Given the description of an element on the screen output the (x, y) to click on. 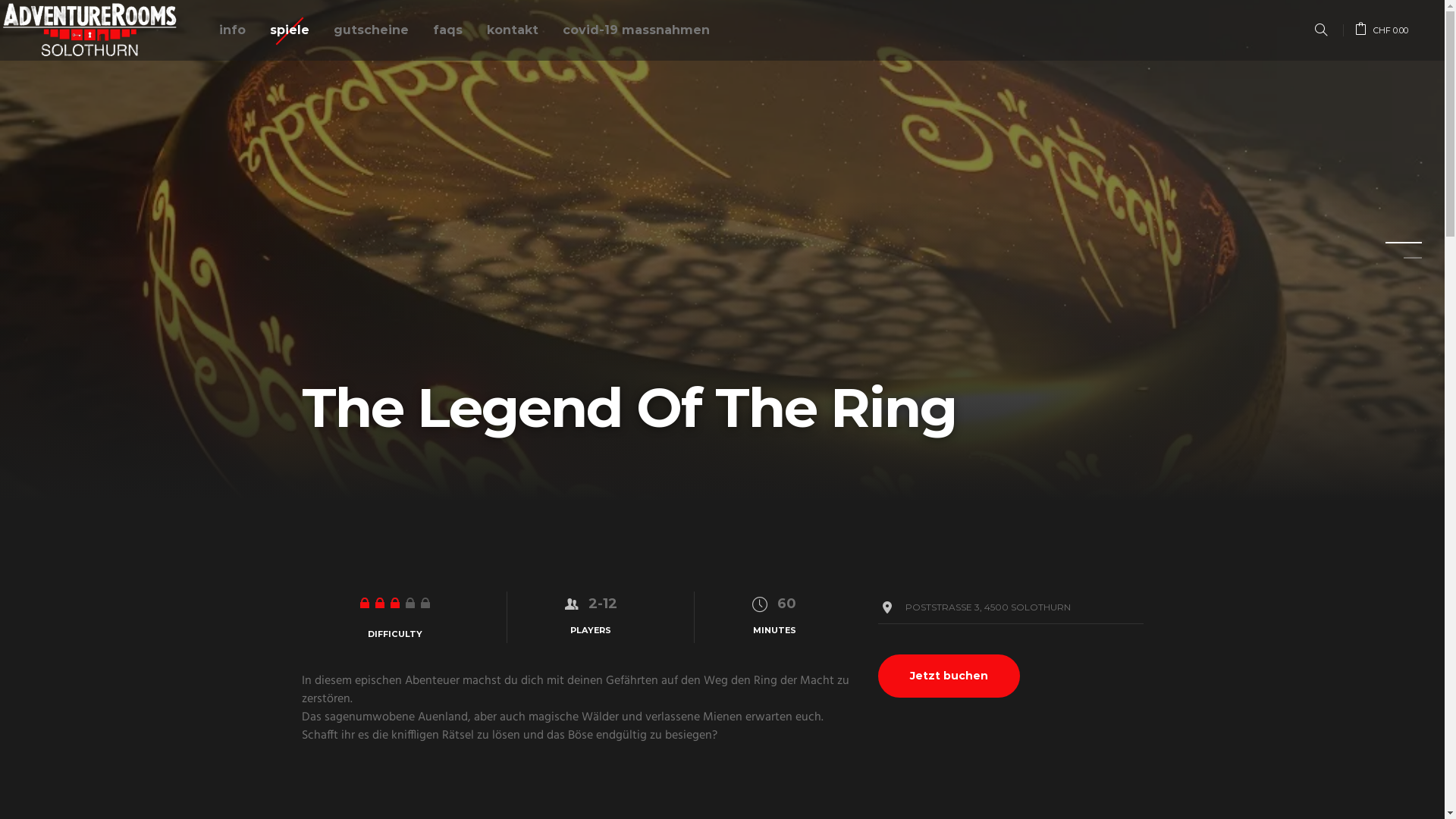
CHF 0.00 Element type: text (1381, 29)
1 Element type: text (1394, 246)
gutscheine Element type: text (370, 30)
kontakt Element type: text (512, 30)
Jetzt buchen Element type: text (948, 675)
info Element type: text (232, 30)
covid-19 massnahmen Element type: text (635, 30)
spiele Element type: text (289, 30)
faqs Element type: text (447, 30)
2 Element type: text (1394, 261)
